Given the description of an element on the screen output the (x, y) to click on. 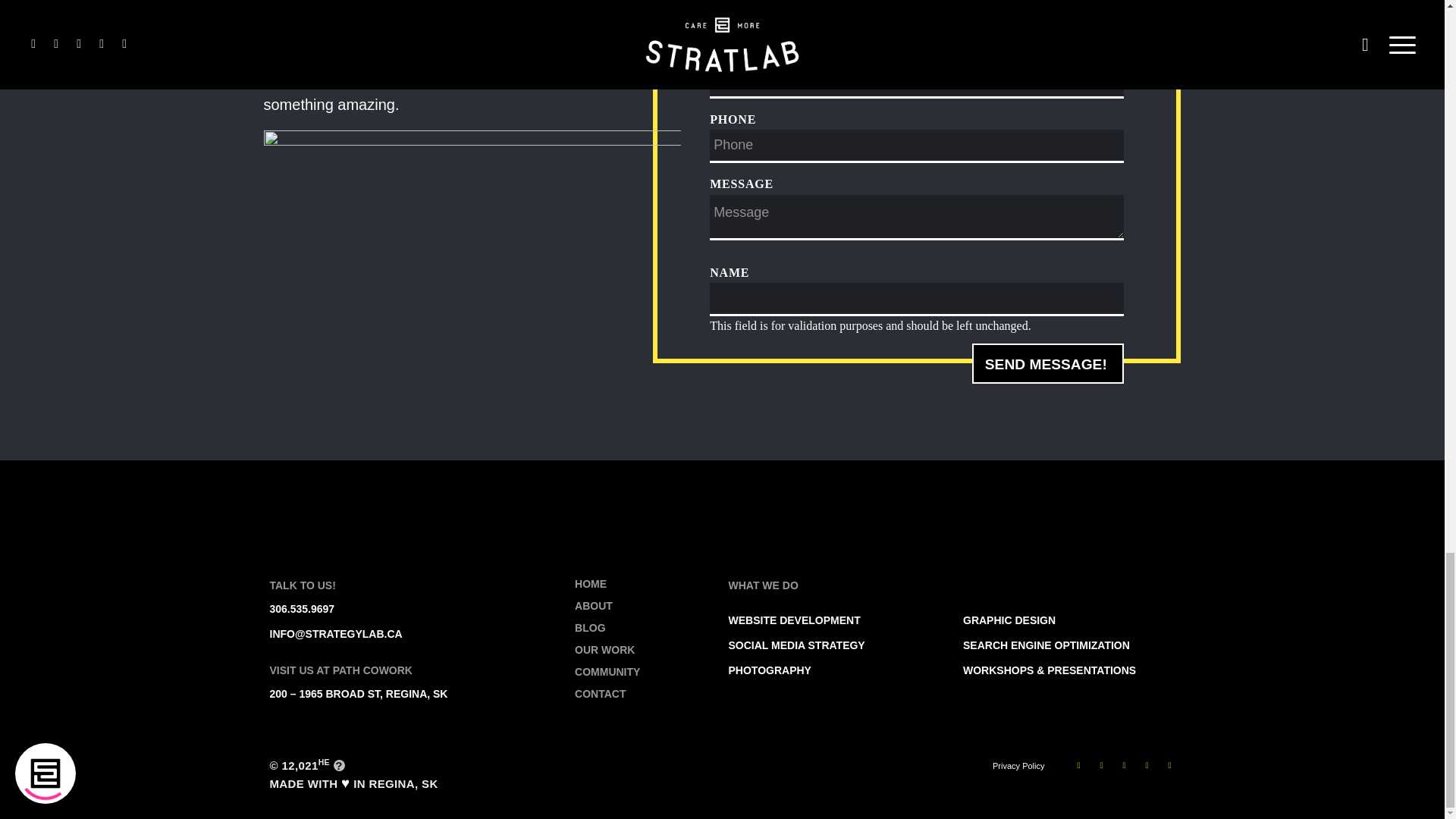
Send Message! (785, 346)
